Given the description of an element on the screen output the (x, y) to click on. 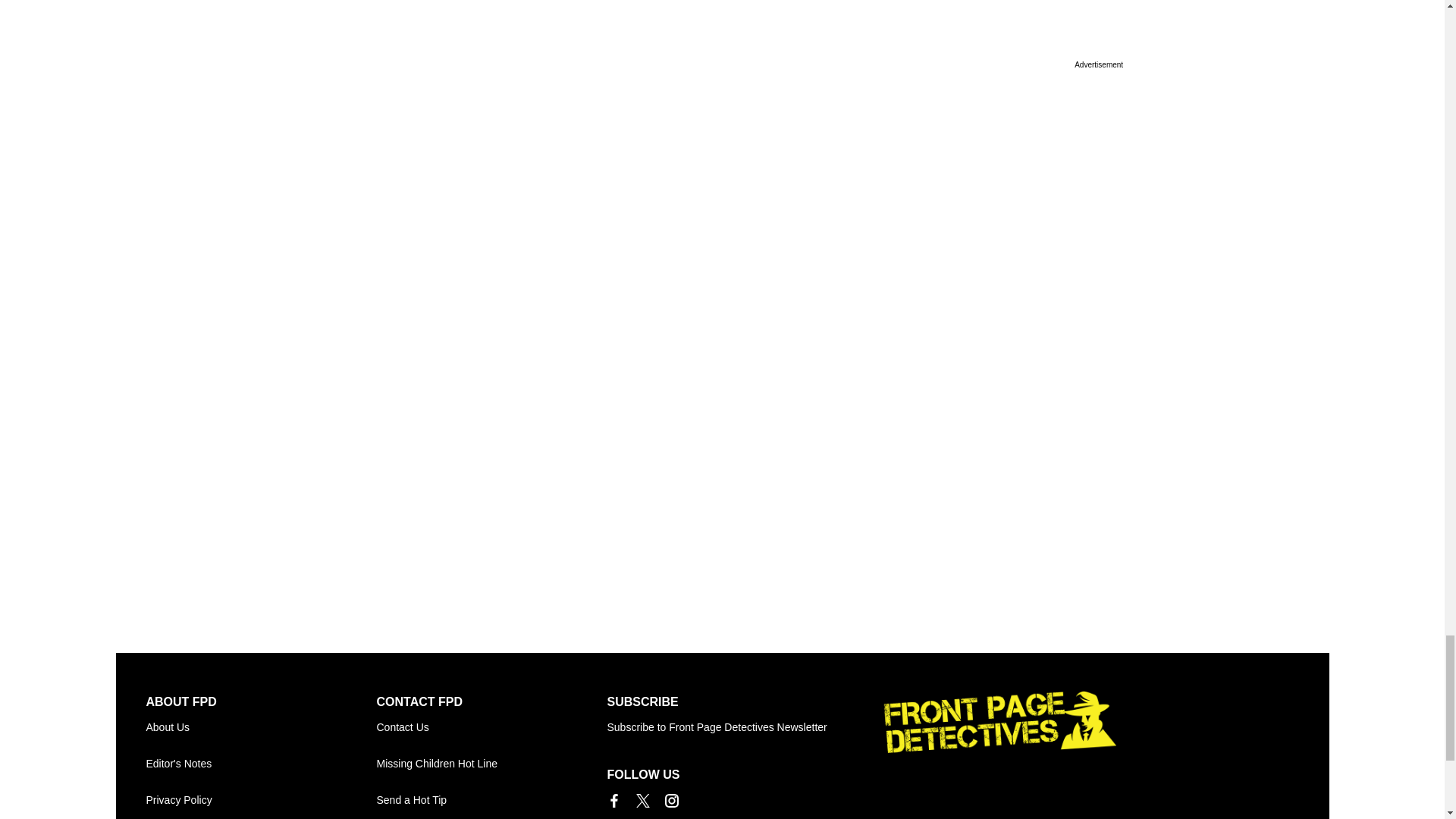
Link to Instagram (670, 800)
Editor's Notes (260, 763)
Link to X (641, 800)
Contact Us (491, 727)
Link to Facebook (613, 800)
About Front Page Detectives (260, 727)
Privacy Policy (260, 800)
